Given the description of an element on the screen output the (x, y) to click on. 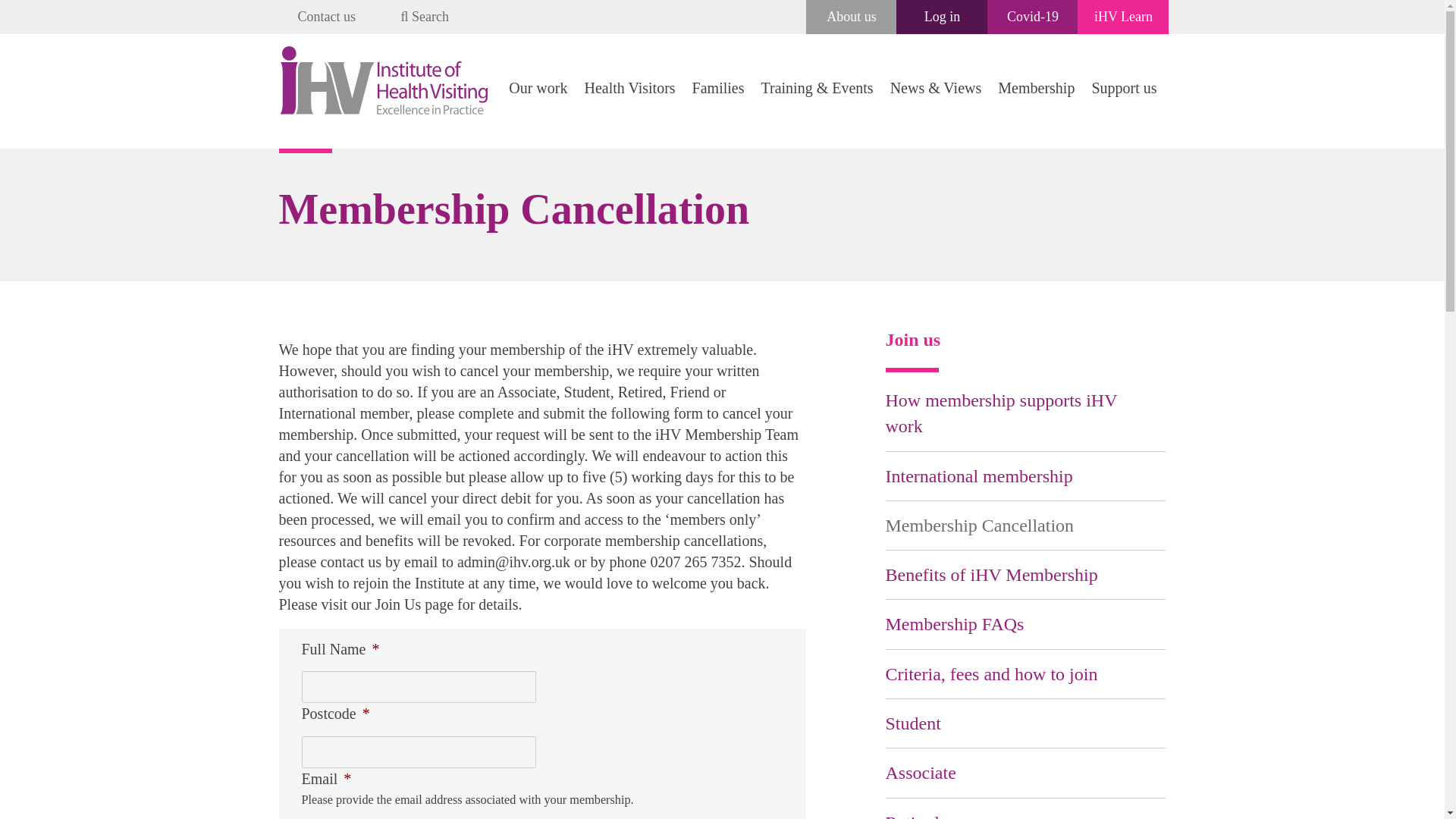
iHV Learn (1123, 16)
Log in (942, 16)
Health Visitors (628, 87)
Contact us (326, 16)
Search (424, 16)
Our work (537, 87)
Covid-19 (1032, 16)
About us (851, 16)
